Given the description of an element on the screen output the (x, y) to click on. 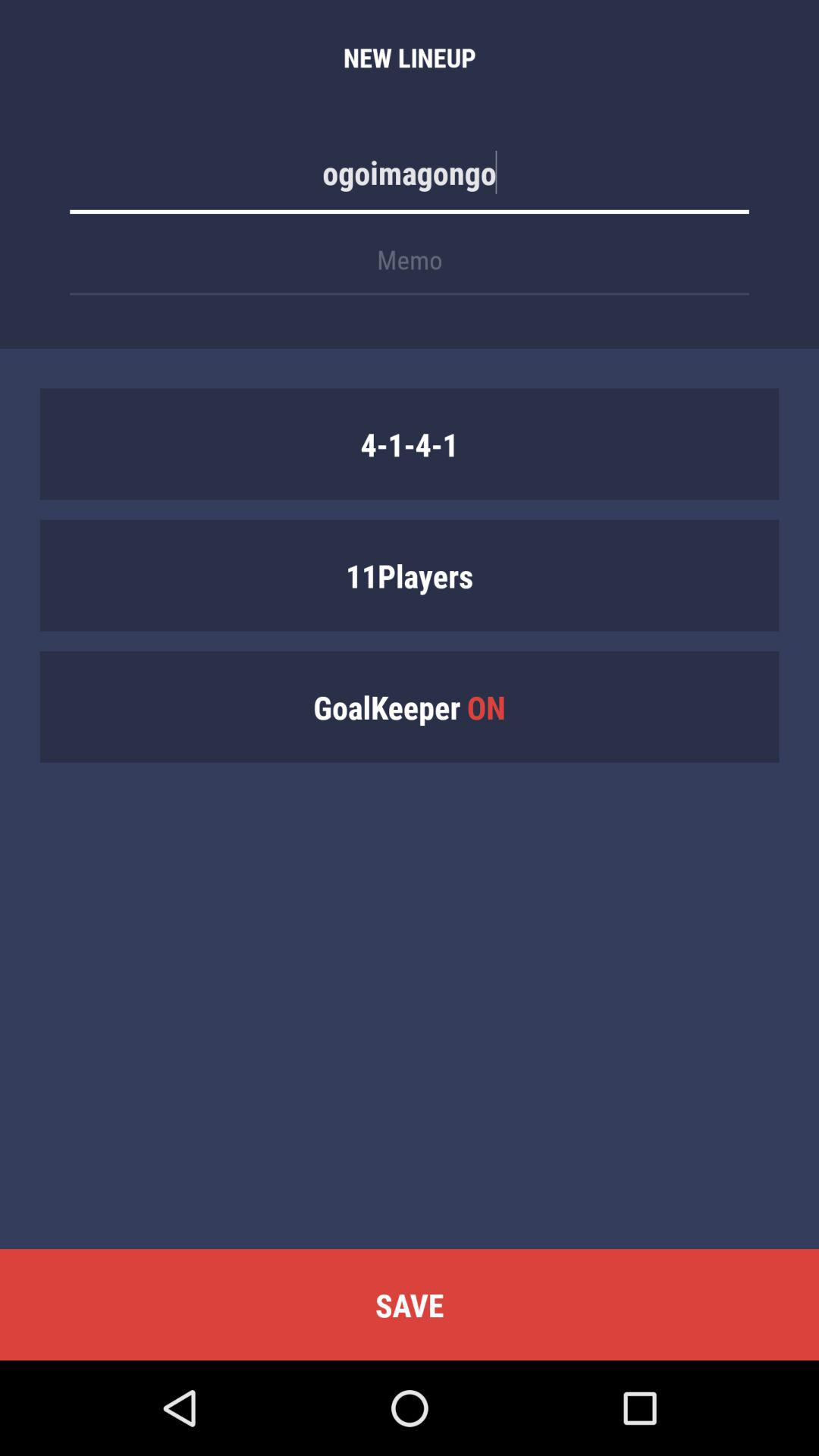
turn on item below the new lineup (409, 179)
